Given the description of an element on the screen output the (x, y) to click on. 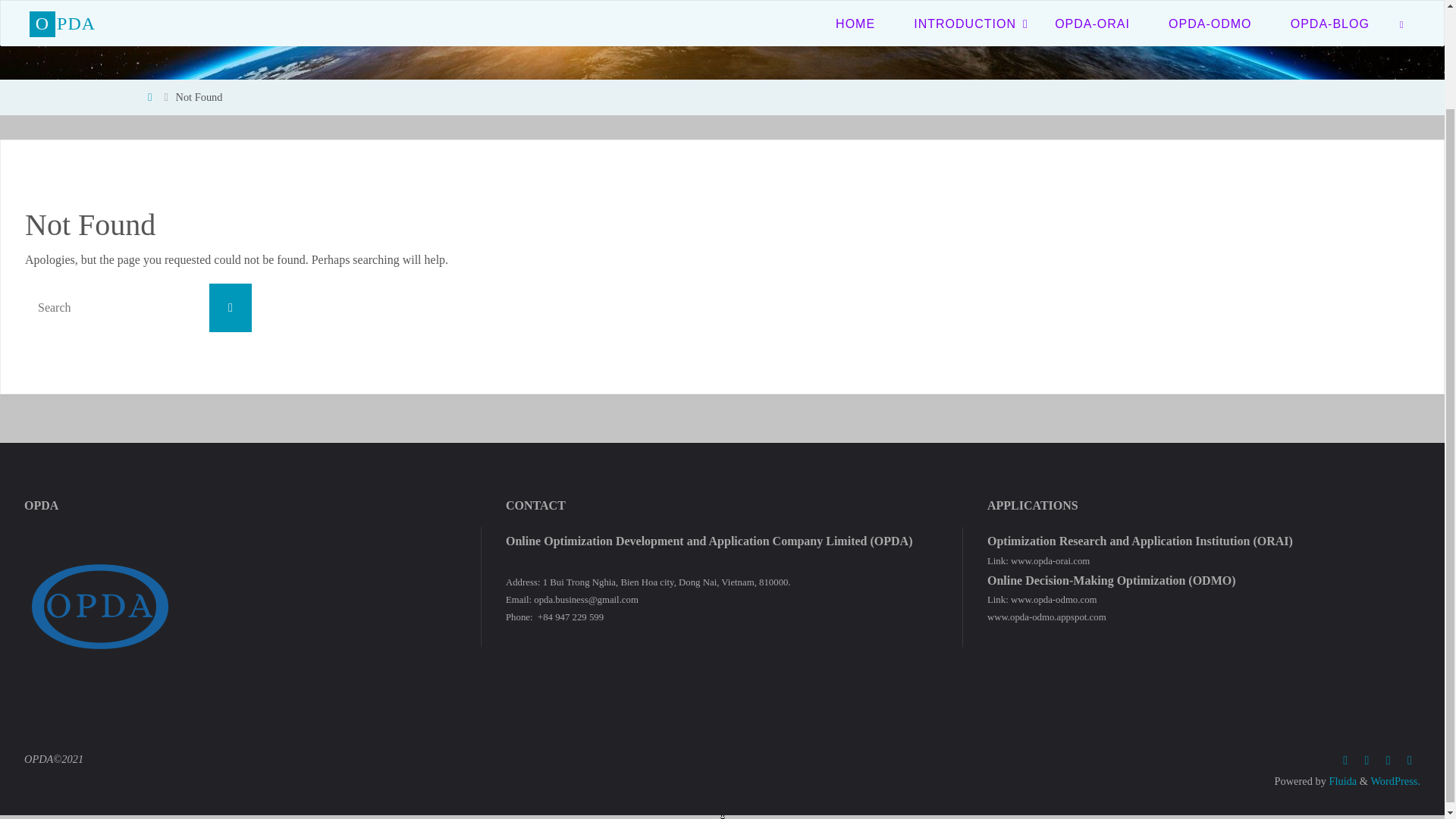
Custom Social (1410, 761)
Google Plus (1388, 761)
Semantic Personal Publishing Platform (1395, 779)
Facebook (1345, 761)
Twitter (1366, 761)
Fluida (1341, 779)
WordPress. (1395, 779)
Fluida WordPress Theme by Cryout Creations (1341, 779)
